Given the description of an element on the screen output the (x, y) to click on. 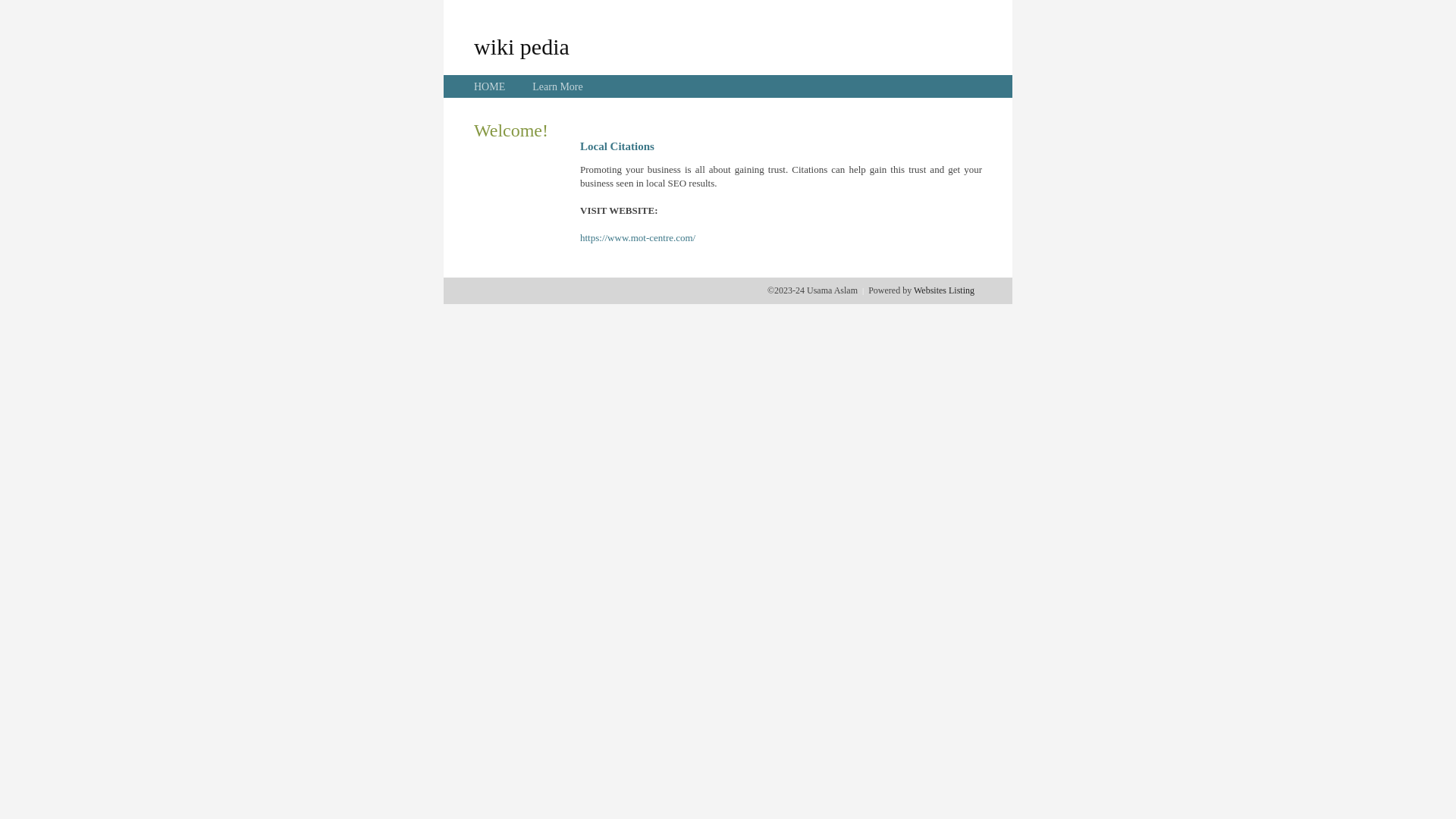
Learn More Element type: text (557, 86)
https://www.mot-centre.com/ Element type: text (637, 237)
Websites Listing Element type: text (943, 290)
HOME Element type: text (489, 86)
wiki pedia Element type: text (521, 46)
